Given the description of an element on the screen output the (x, y) to click on. 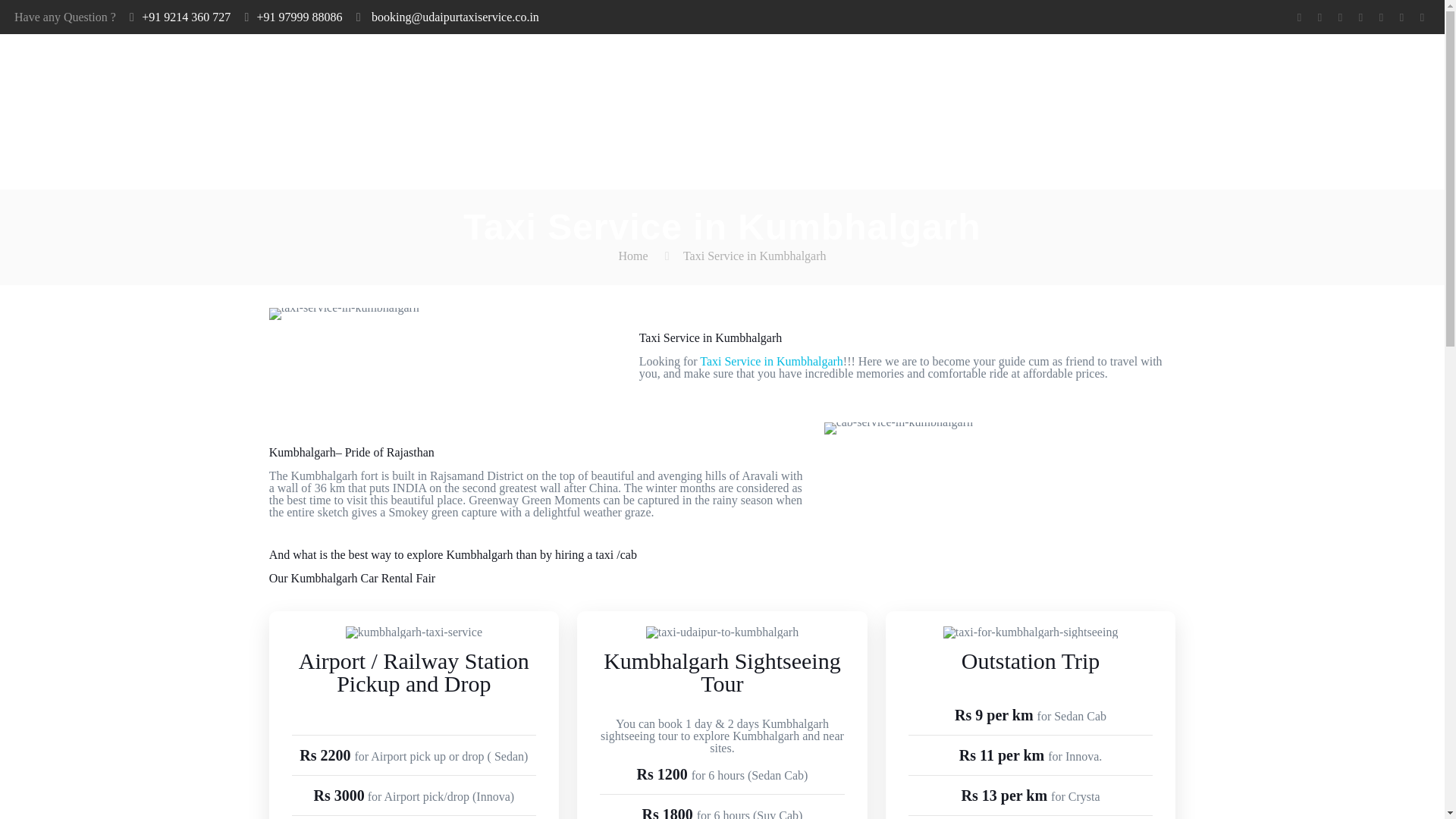
LinkedIn (1360, 17)
TripAdvisor (1421, 17)
Facebook (1299, 17)
YouTube (1340, 17)
Instagram (1401, 17)
Pinterest (1381, 17)
Twitter (1319, 17)
